Given the description of an element on the screen output the (x, y) to click on. 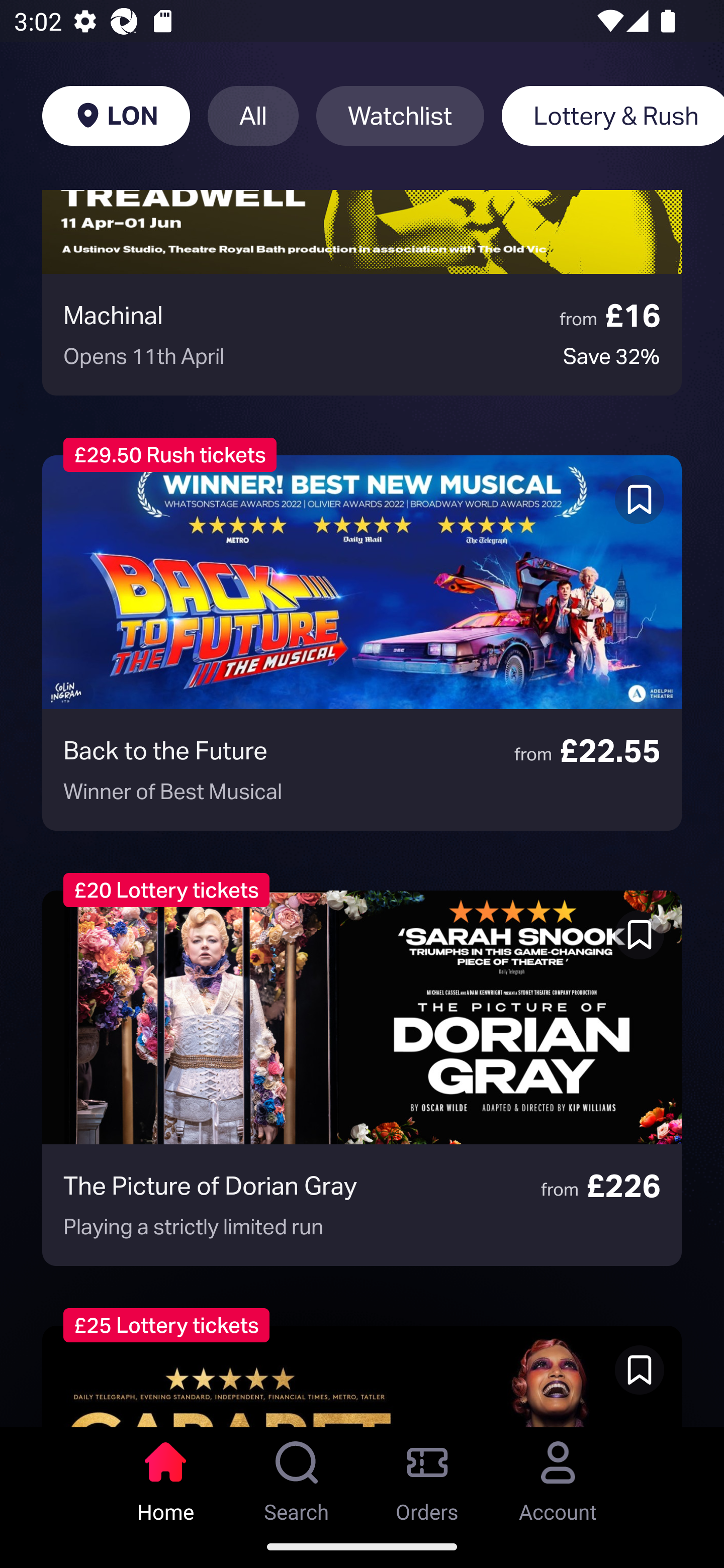
LON (115, 115)
All (252, 115)
Watchlist (400, 115)
Lottery & Rush (612, 115)
Machinal from £16 Opens 11th April Save 32% (361, 292)
Search (296, 1475)
Orders (427, 1475)
Account (558, 1475)
